Given the description of an element on the screen output the (x, y) to click on. 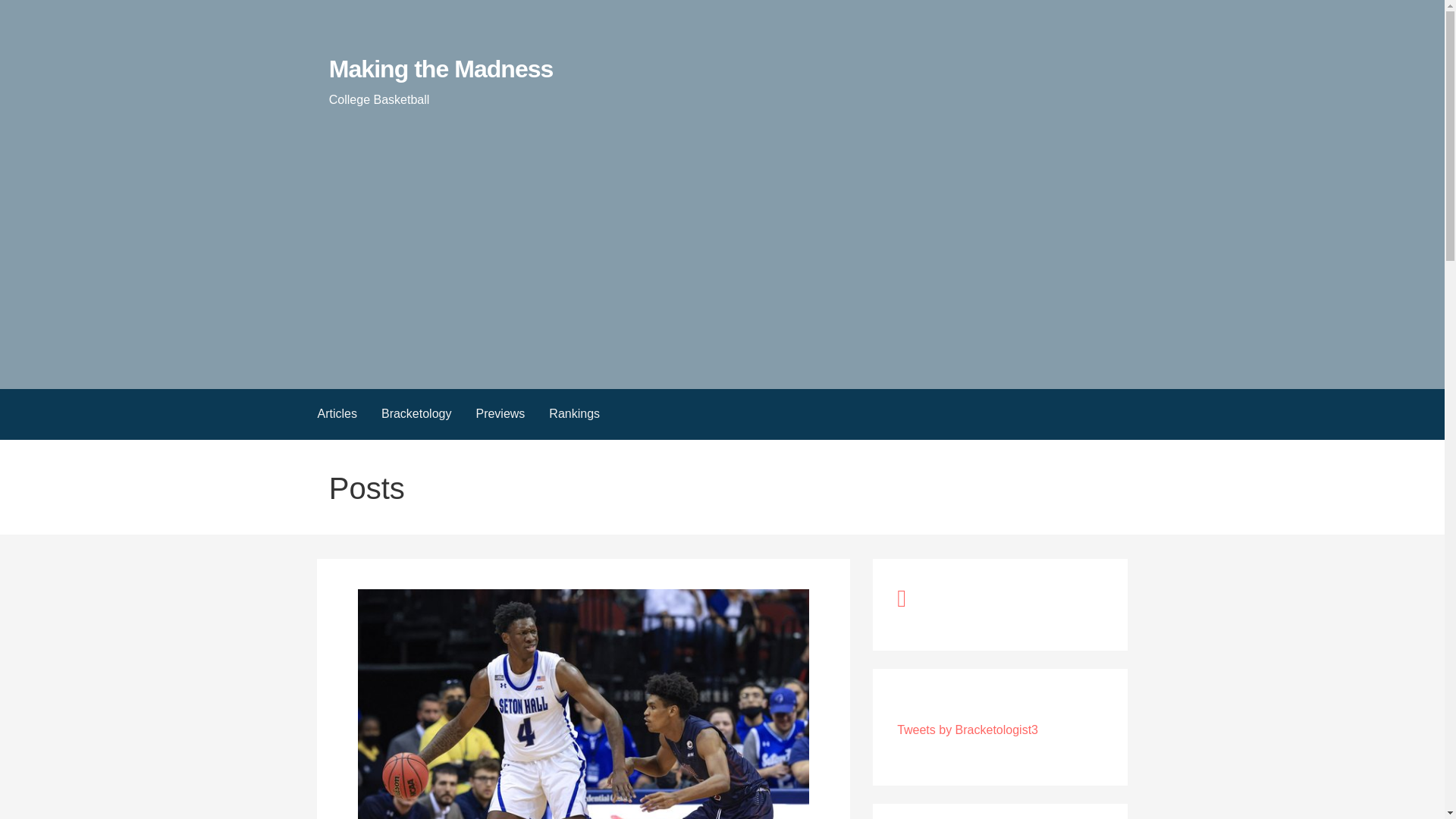
Previews (500, 414)
Making the Madness (441, 68)
Tweets by Bracketologist3 (967, 729)
Rankings (574, 414)
Bracketology (416, 414)
Articles (336, 414)
